Given the description of an element on the screen output the (x, y) to click on. 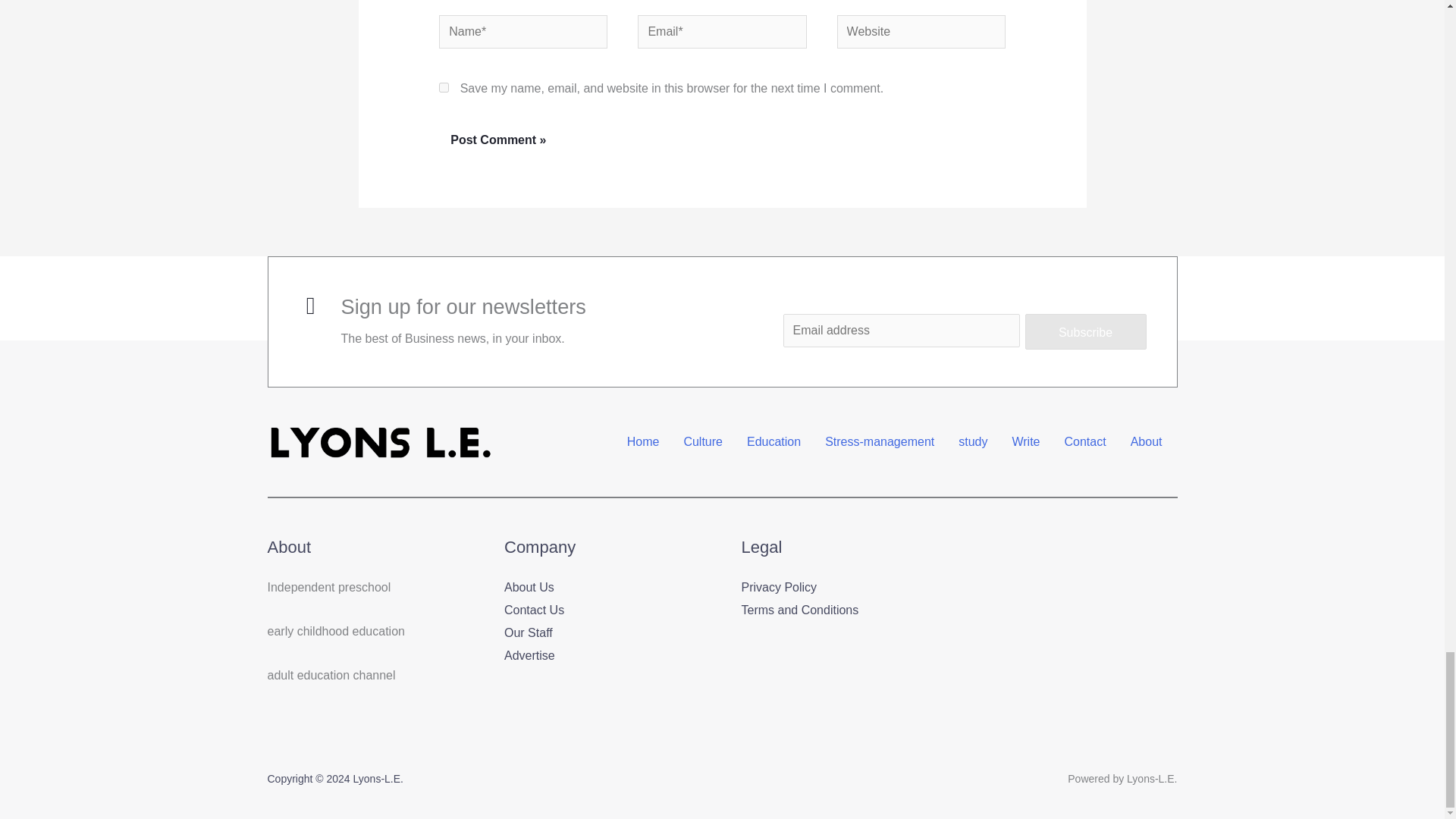
yes (443, 87)
About (1146, 441)
Subscribe (1086, 331)
Home (642, 441)
Culture (703, 441)
Stress-management (879, 441)
Education (773, 441)
Contact (1085, 441)
Write (1024, 441)
study (972, 441)
